Given the description of an element on the screen output the (x, y) to click on. 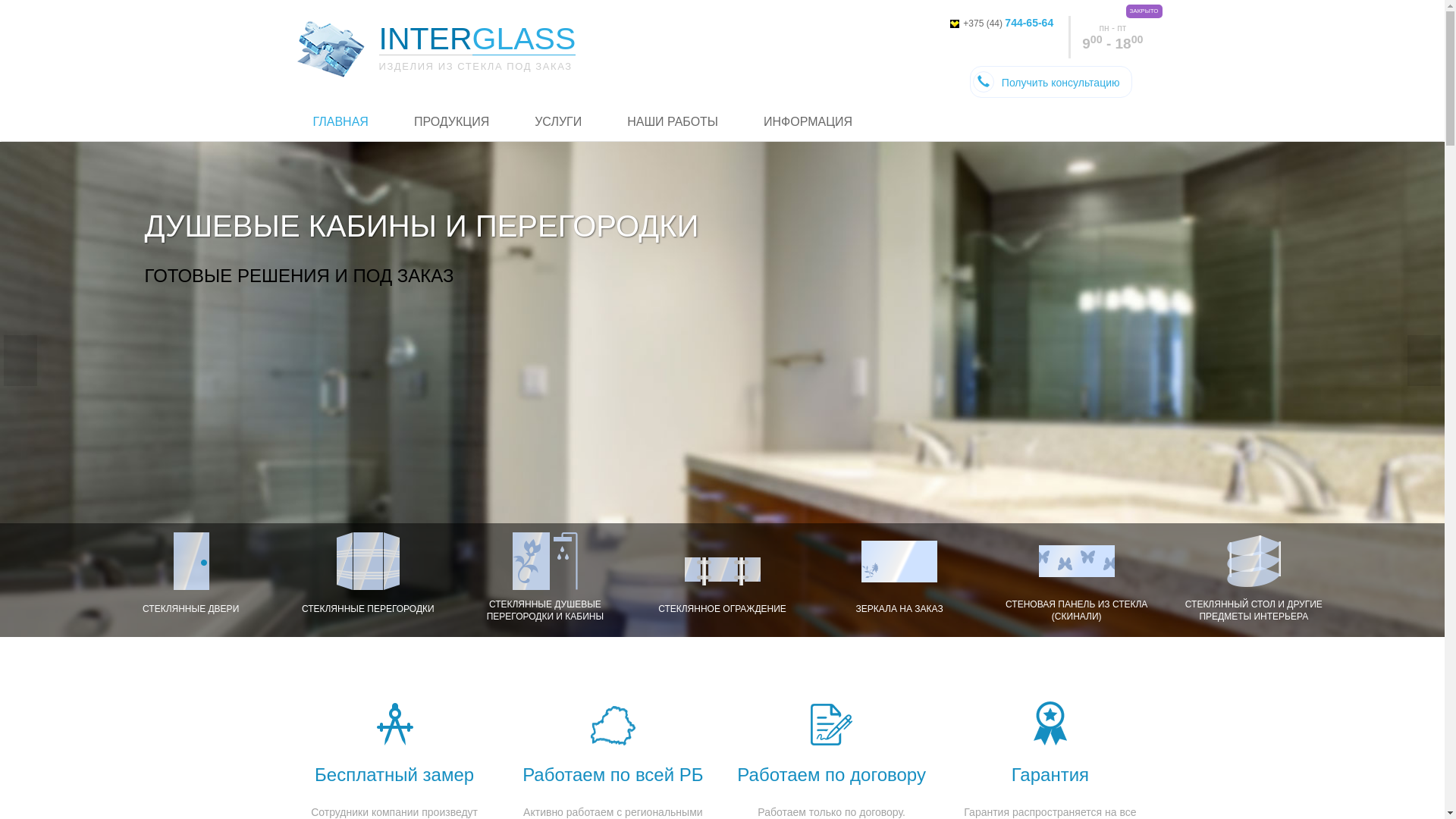
+375 (44) 744-65-64 Element type: text (1001, 23)
